Given the description of an element on the screen output the (x, y) to click on. 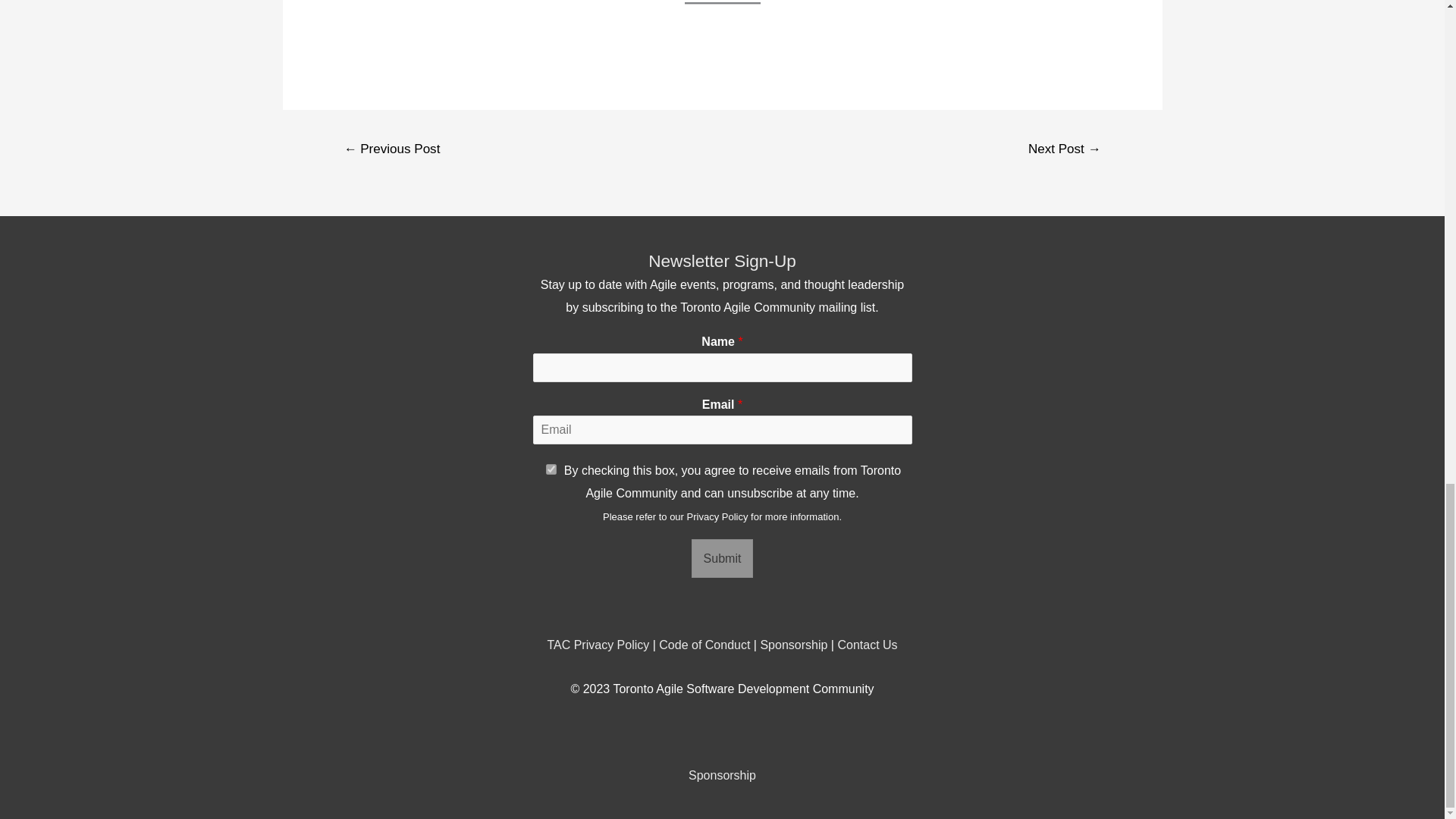
Code of Conduct (704, 644)
TAC Privacy Policy (598, 644)
Twitter (721, 733)
LinkedIn (749, 733)
Facebook (694, 733)
Sponsorship (793, 644)
1 (551, 469)
Contact Us (866, 644)
Submit (722, 558)
Sponsorship (721, 775)
